Given the description of an element on the screen output the (x, y) to click on. 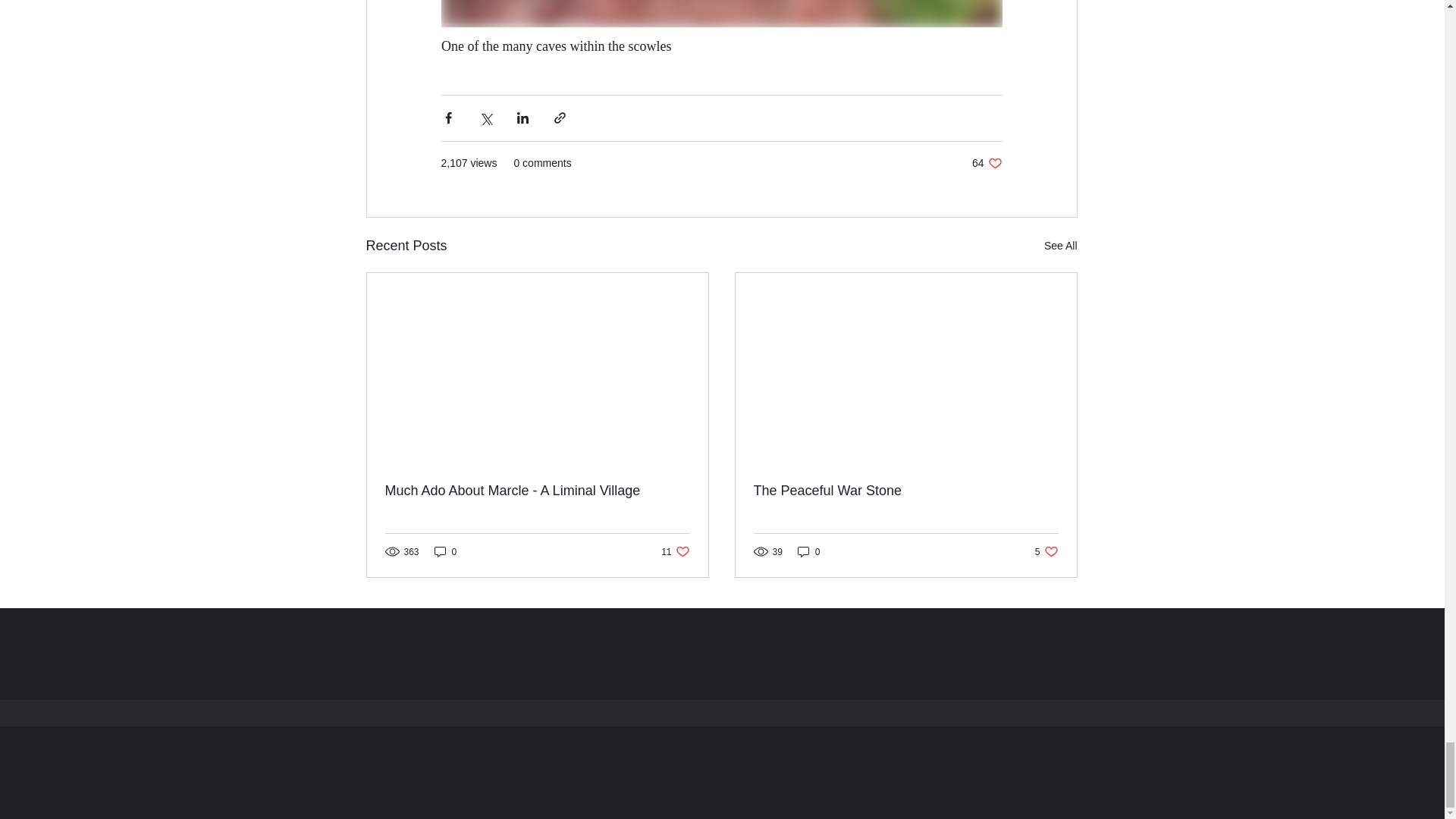
0 (445, 551)
See All (1060, 246)
Much Ado About Marcle - A Liminal Village (987, 163)
The Peaceful War Stone (537, 490)
0 (674, 551)
